Given the description of an element on the screen output the (x, y) to click on. 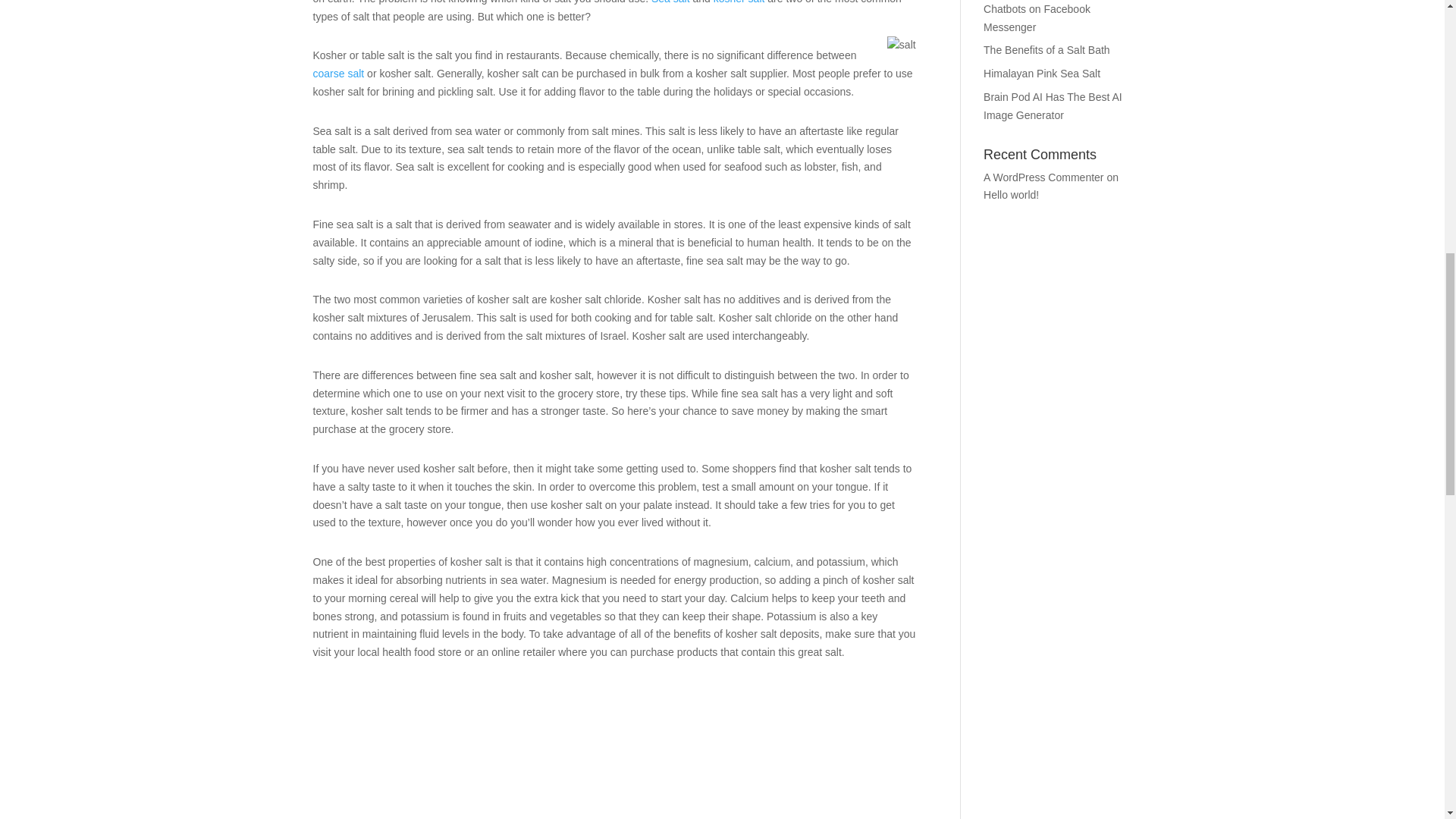
kosher salt (739, 2)
Brain Pod AI Has The Best AI Image Generator (1053, 105)
Himalayan Pink Sea Salt (1042, 73)
The Benefits of a Salt Bath (1046, 50)
A WordPress Commenter (1043, 177)
Hello world! (1011, 194)
coarse salt (338, 73)
Boost Your Sales With Chatbots on Facebook Messenger (1037, 16)
Kosher Salt and Its Many Benefits 1 (900, 45)
Sea salt (670, 2)
